Given the description of an element on the screen output the (x, y) to click on. 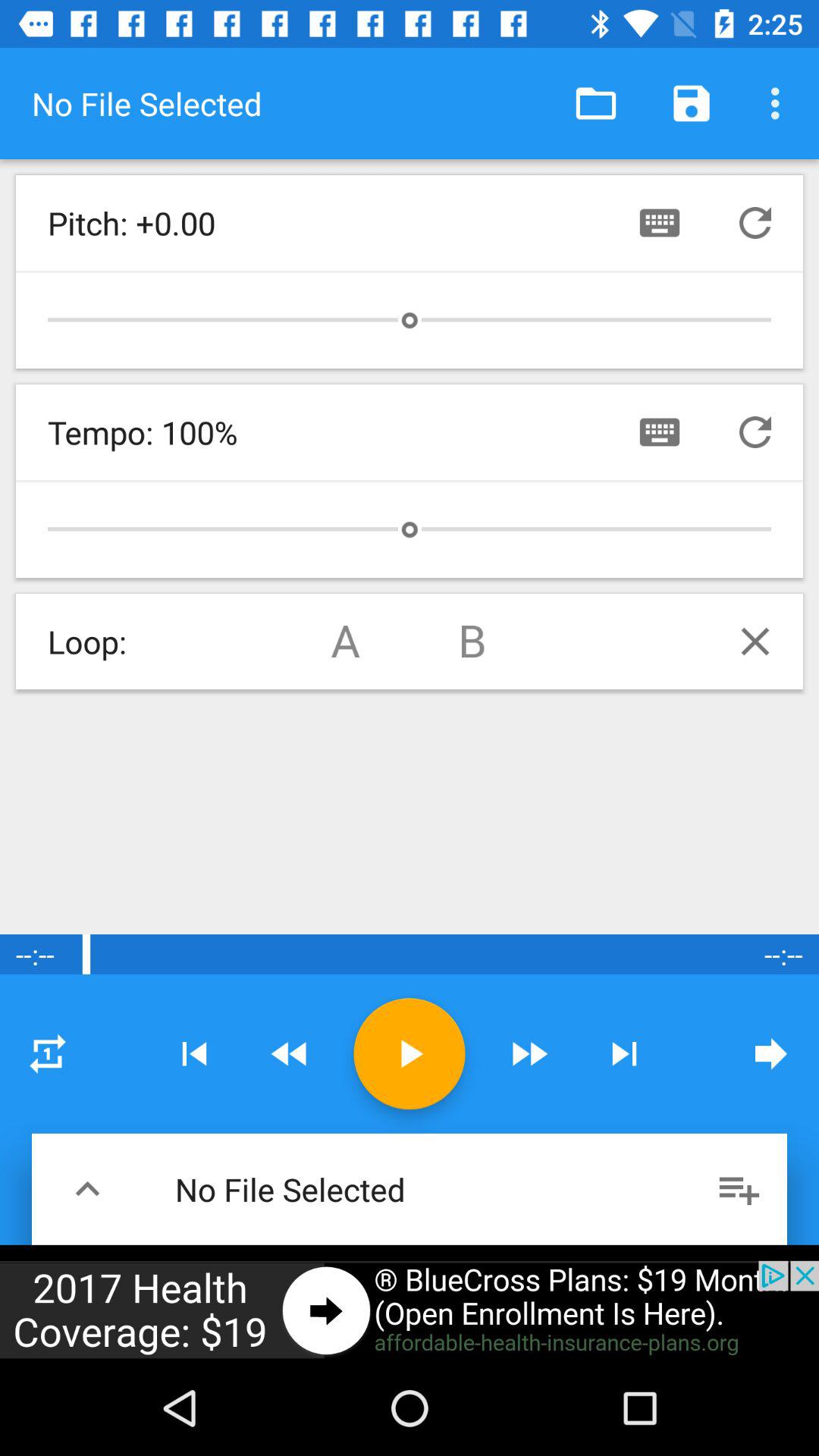
play file (409, 1053)
